Given the description of an element on the screen output the (x, y) to click on. 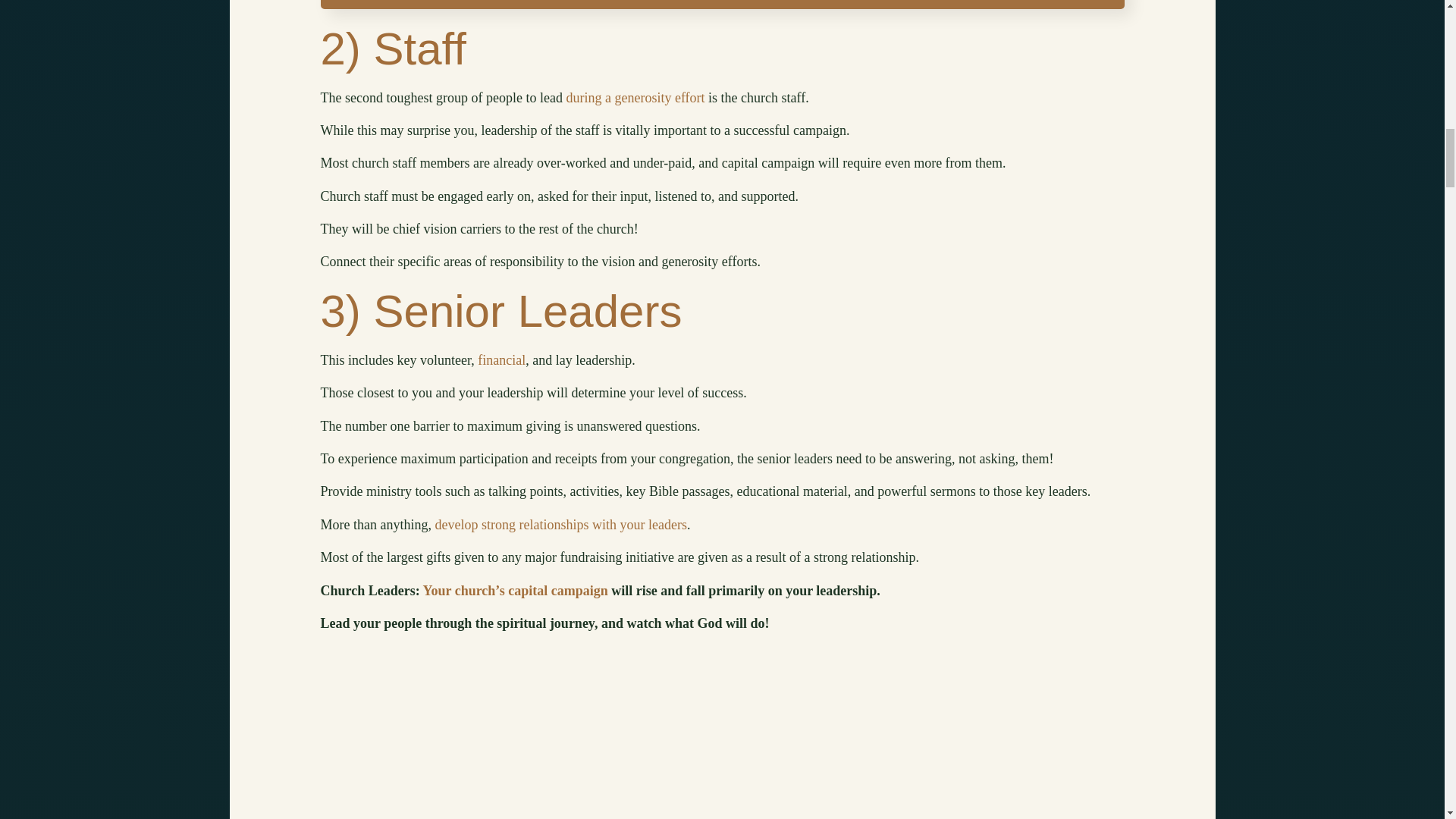
financial (501, 359)
during a generosity effort (635, 96)
develop strong relationships with your leaders (559, 524)
